Given the description of an element on the screen output the (x, y) to click on. 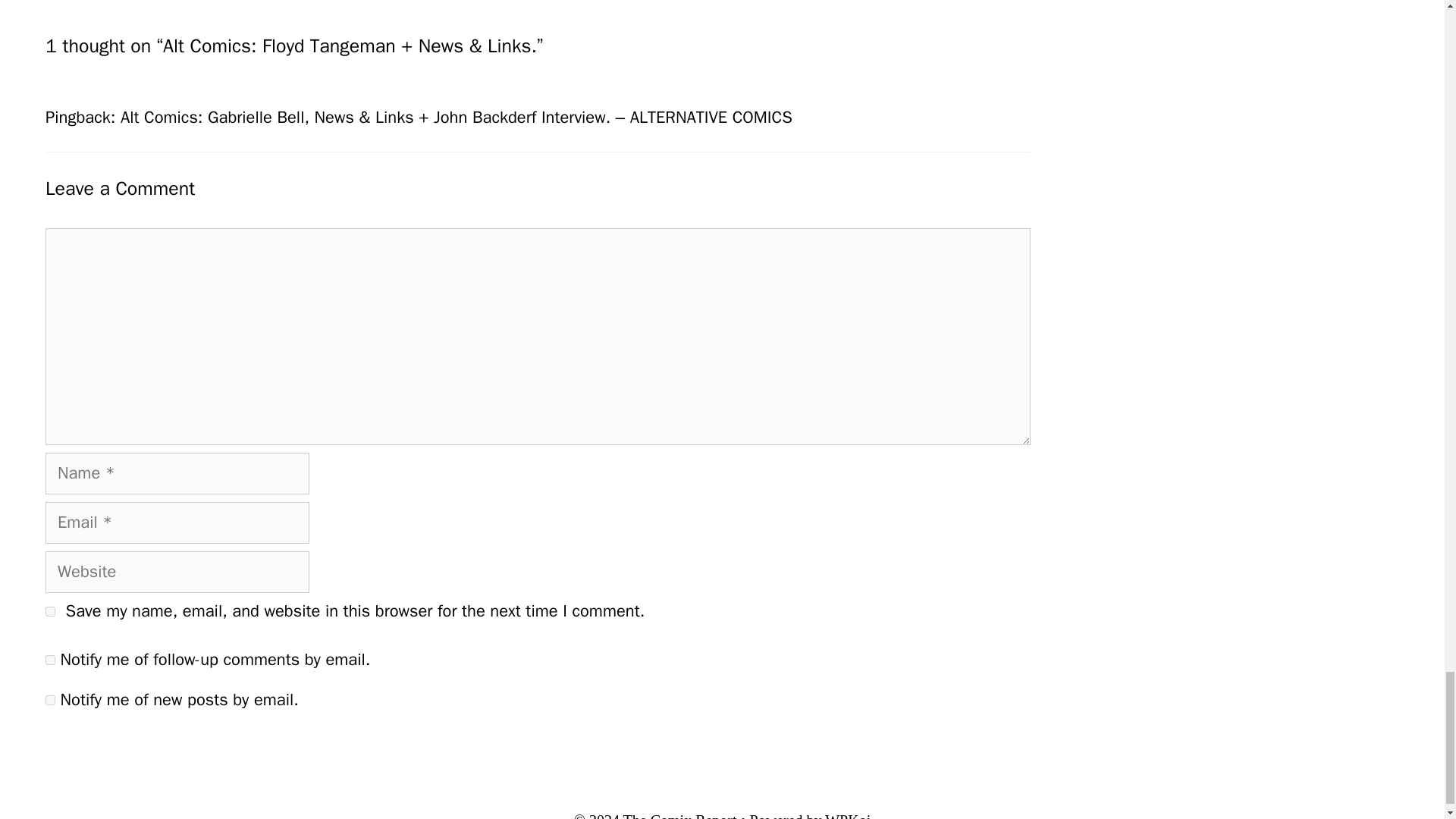
subscribe (50, 700)
yes (50, 611)
Post Comment (111, 751)
subscribe (50, 660)
Post Comment (111, 751)
